Given the description of an element on the screen output the (x, y) to click on. 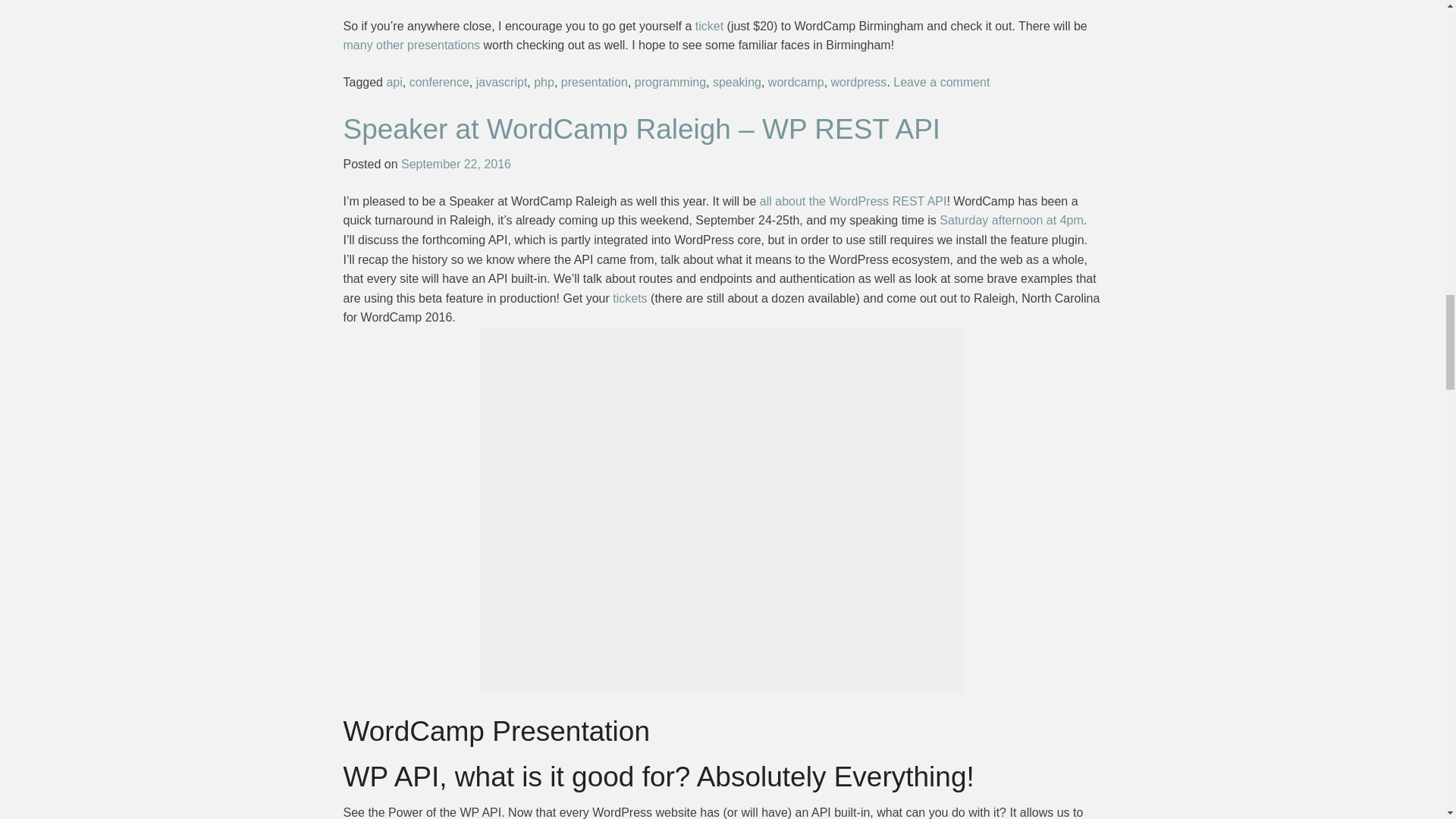
many other presentations (411, 44)
api (393, 82)
programming (670, 82)
wordpress (858, 82)
presentation (593, 82)
wordcamp (796, 82)
speaking (737, 82)
php (544, 82)
Leave a comment (941, 82)
javascript (501, 82)
